Given the description of an element on the screen output the (x, y) to click on. 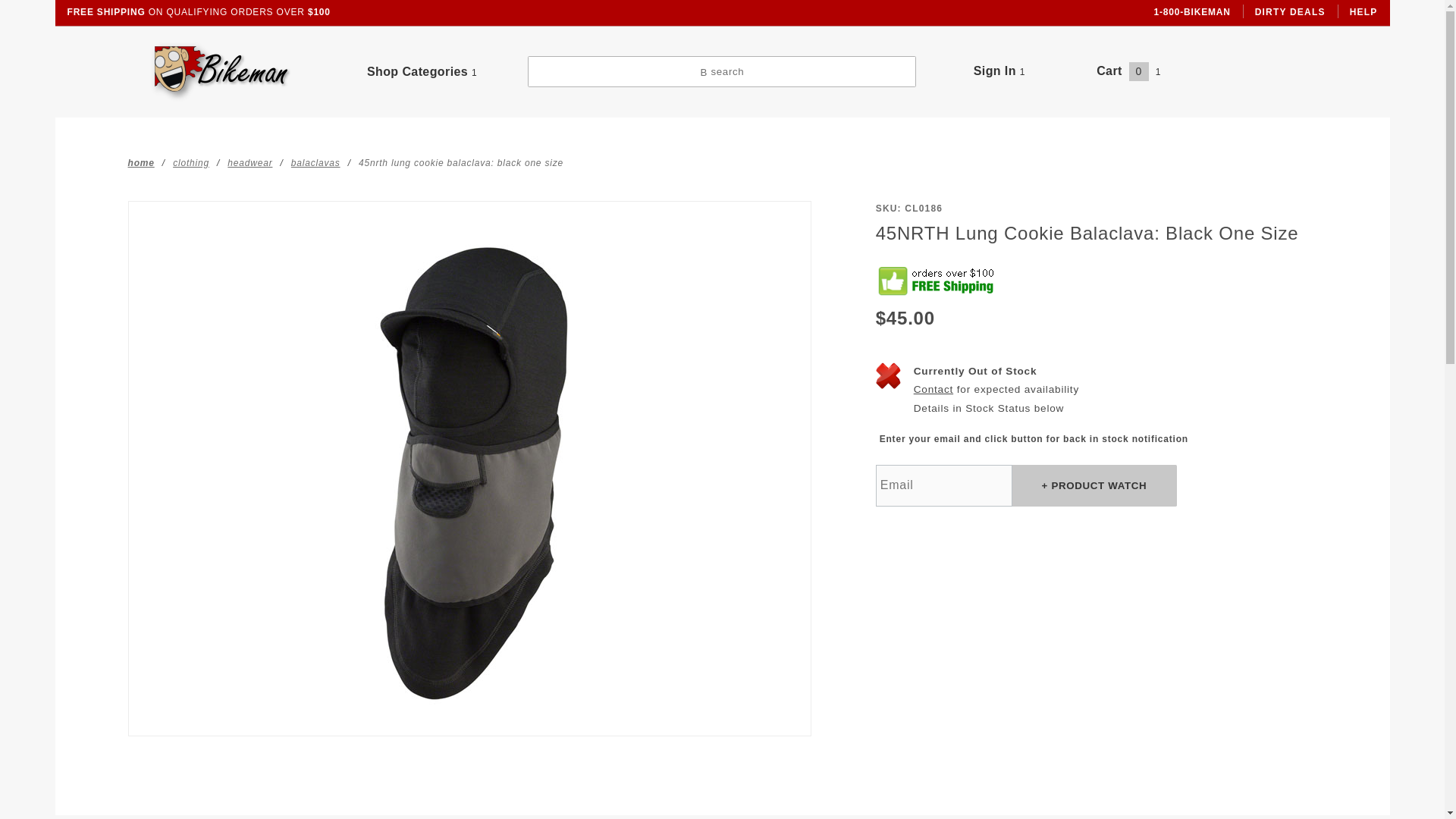
Balaclavas (315, 162)
CLOSE (1239, 9)
Shop Categories (422, 71)
Home (141, 162)
HELP (1364, 12)
Headwear (249, 162)
45NRTH Lung Cookie Balaclava: Black One Size (460, 162)
Sign In (1192, 126)
Help (1364, 12)
DIRTY DEALS (1290, 12)
Sign In (999, 70)
Cart 0 (1128, 70)
PRESS ENTER (1213, 25)
Dirty Deals (1290, 12)
search (721, 71)
